Given the description of an element on the screen output the (x, y) to click on. 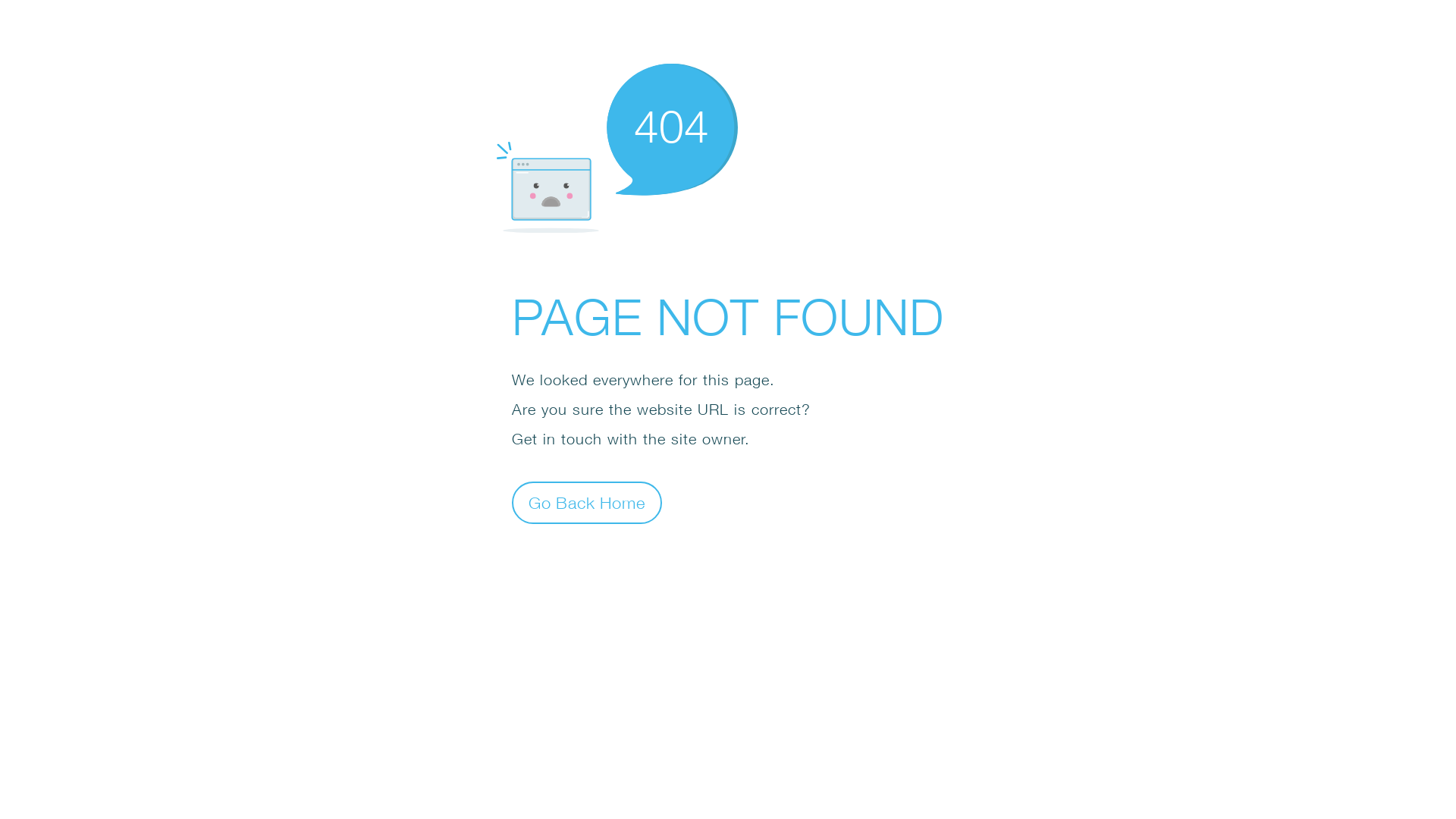
Go Back Home Element type: text (586, 502)
